Given the description of an element on the screen output the (x, y) to click on. 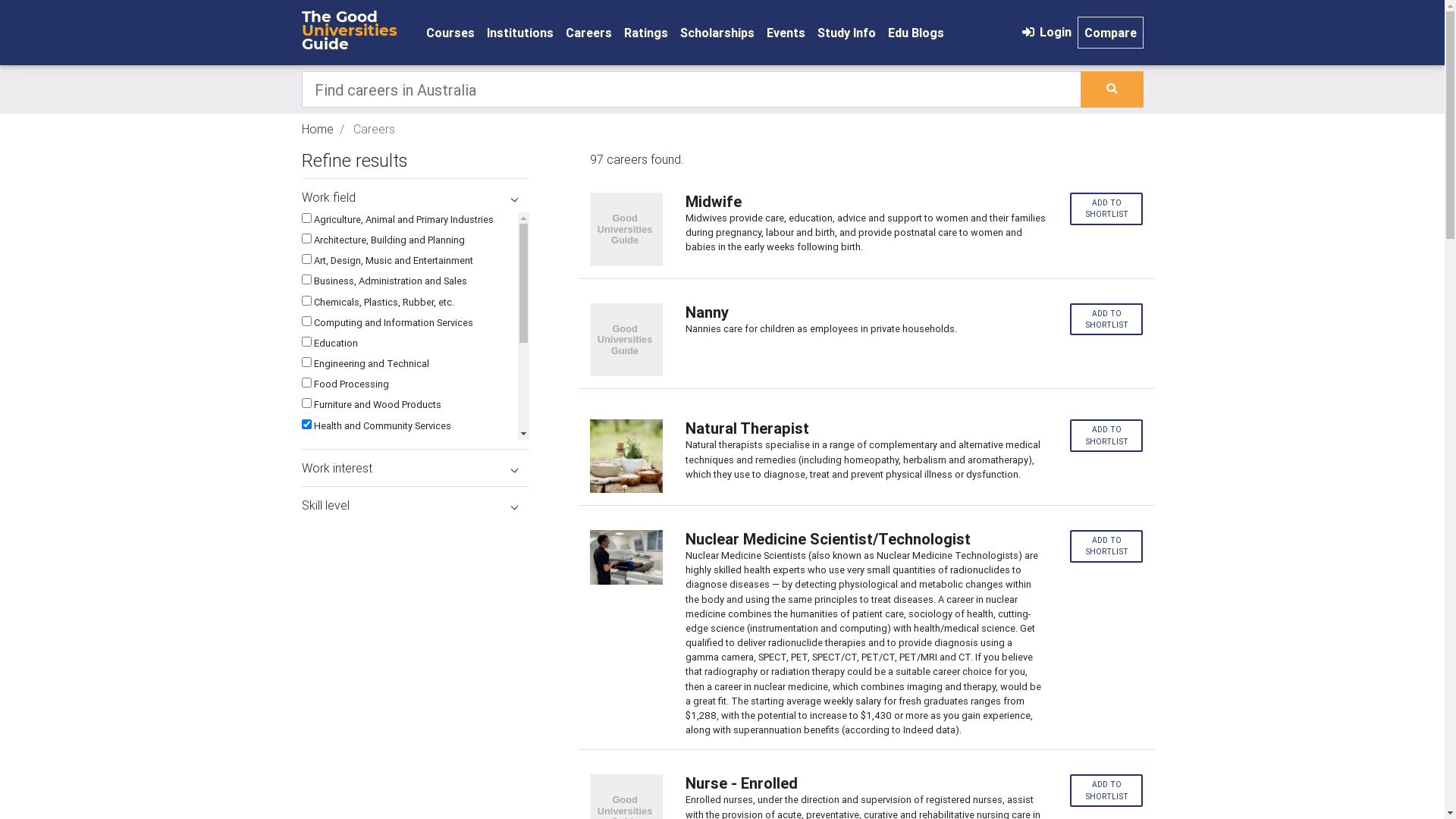
ADD TO SHORTLIST Element type: text (1106, 319)
Institutions Element type: text (519, 32)
Midwife Element type: text (866, 201)
Events Element type: text (784, 32)
Study Info Element type: text (846, 32)
ADD TO SHORTLIST Element type: text (1106, 208)
Login Element type: text (1044, 31)
Compare Element type: text (1109, 32)
Edu Blogs Element type: text (915, 32)
Home Element type: text (317, 128)
Skill level Element type: text (415, 504)
Nurse - Enrolled Element type: text (866, 783)
Scholarships Element type: text (716, 32)
Ratings Element type: text (645, 32)
Careers Element type: text (588, 32)
ADD TO SHORTLIST Element type: text (1106, 790)
The Good
Universities
Guide Element type: text (354, 32)
Courses Element type: text (450, 32)
Advertisement Element type: hover (415, 617)
ADD TO SHORTLIST Element type: text (1106, 435)
Work field Element type: text (415, 197)
ADD TO SHORTLIST Element type: text (1106, 546)
Nanny Element type: text (866, 312)
Natural Therapist Element type: text (866, 428)
Nuclear Medicine Scientist/Technologist Element type: text (866, 539)
Work interest Element type: text (415, 467)
